Given the description of an element on the screen output the (x, y) to click on. 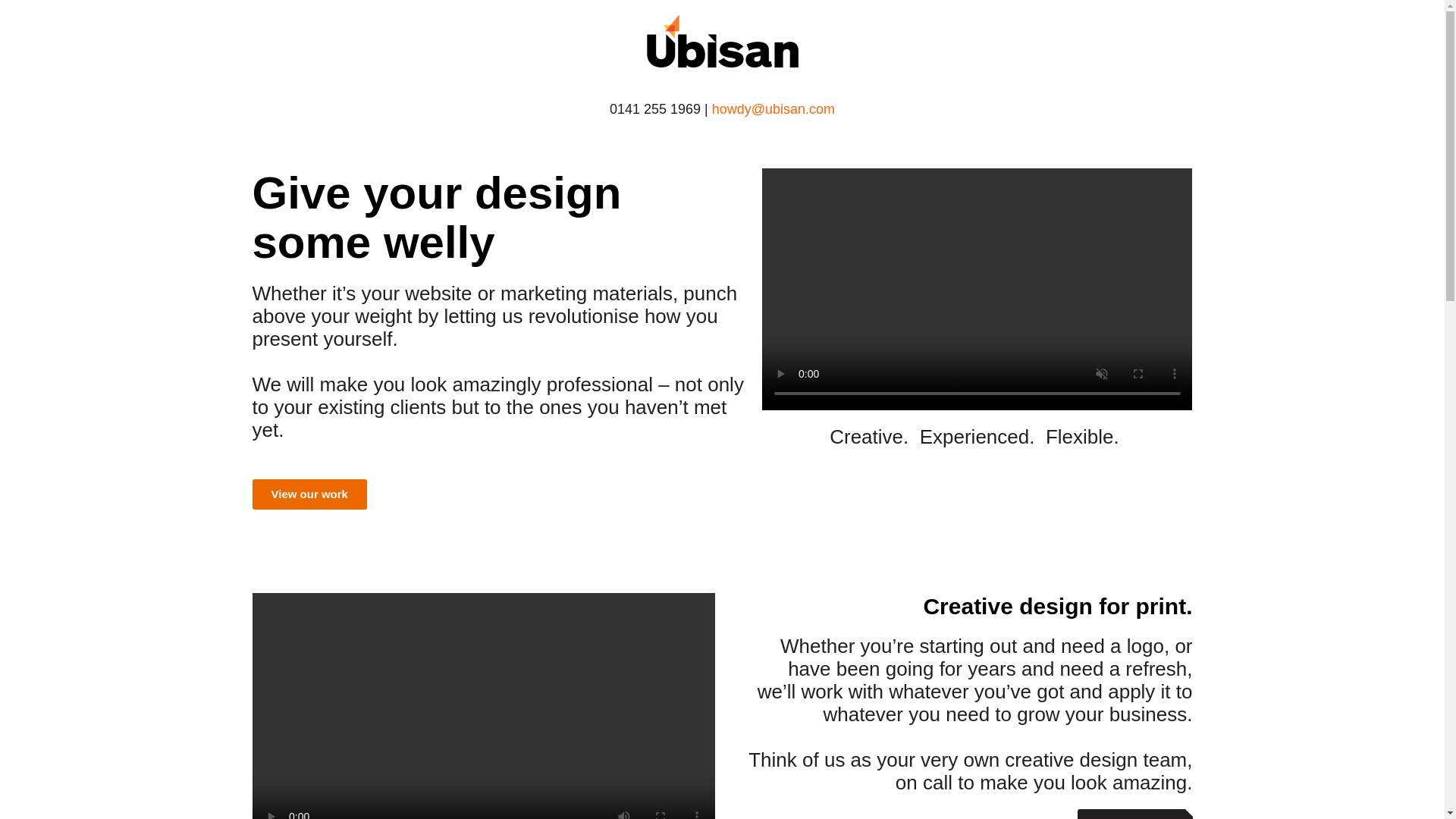
View our work (1134, 813)
ubisan-logo (721, 41)
View our work (308, 494)
